Given the description of an element on the screen output the (x, y) to click on. 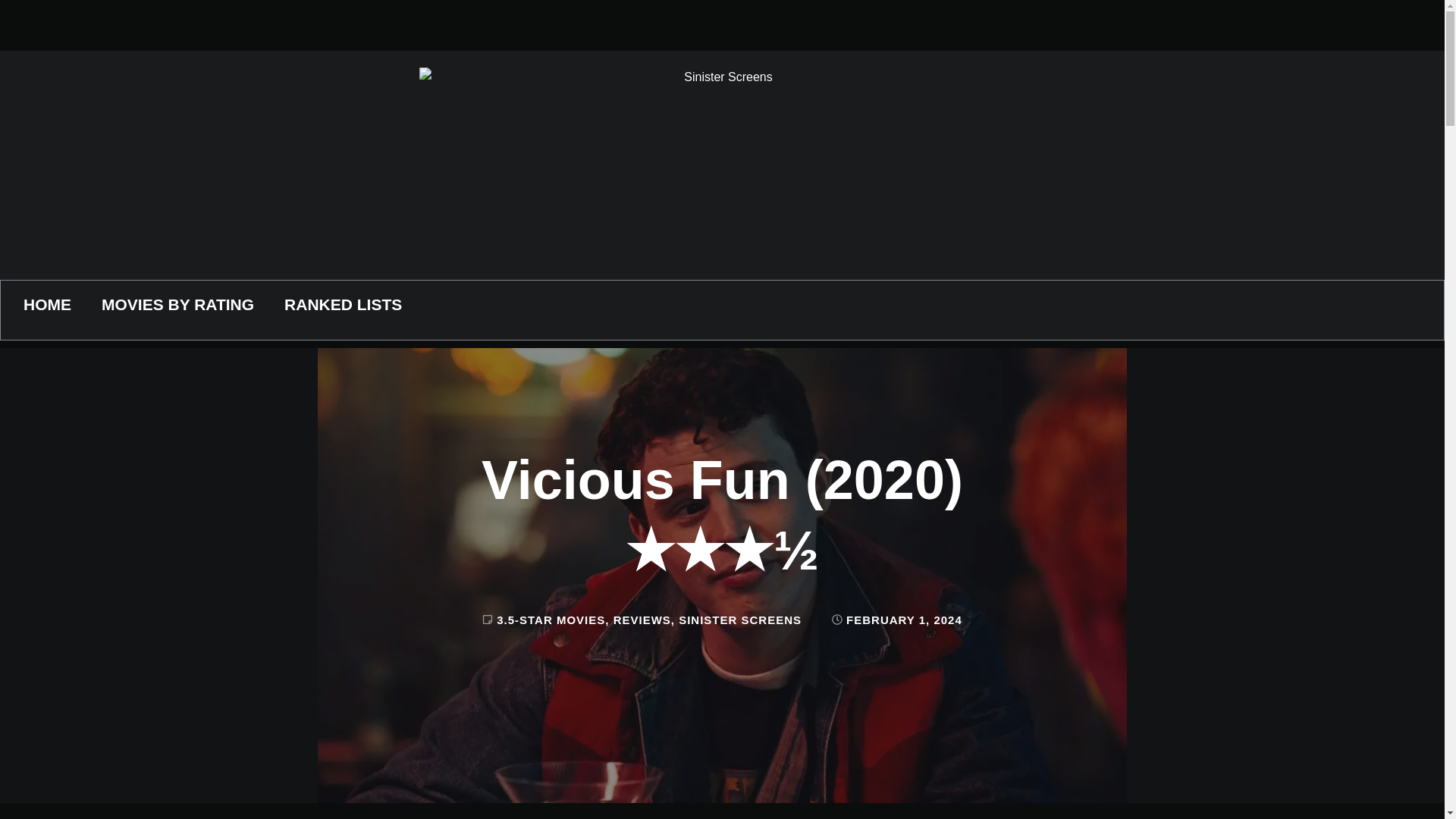
SINISTER SCREENS (740, 619)
3.5-STAR MOVIES (550, 619)
RANKED LISTS (342, 304)
HOME (46, 304)
MOVIES BY RATING (177, 304)
FEBRUARY 1, 2024 (896, 619)
REVIEWS (641, 619)
